Given the description of an element on the screen output the (x, y) to click on. 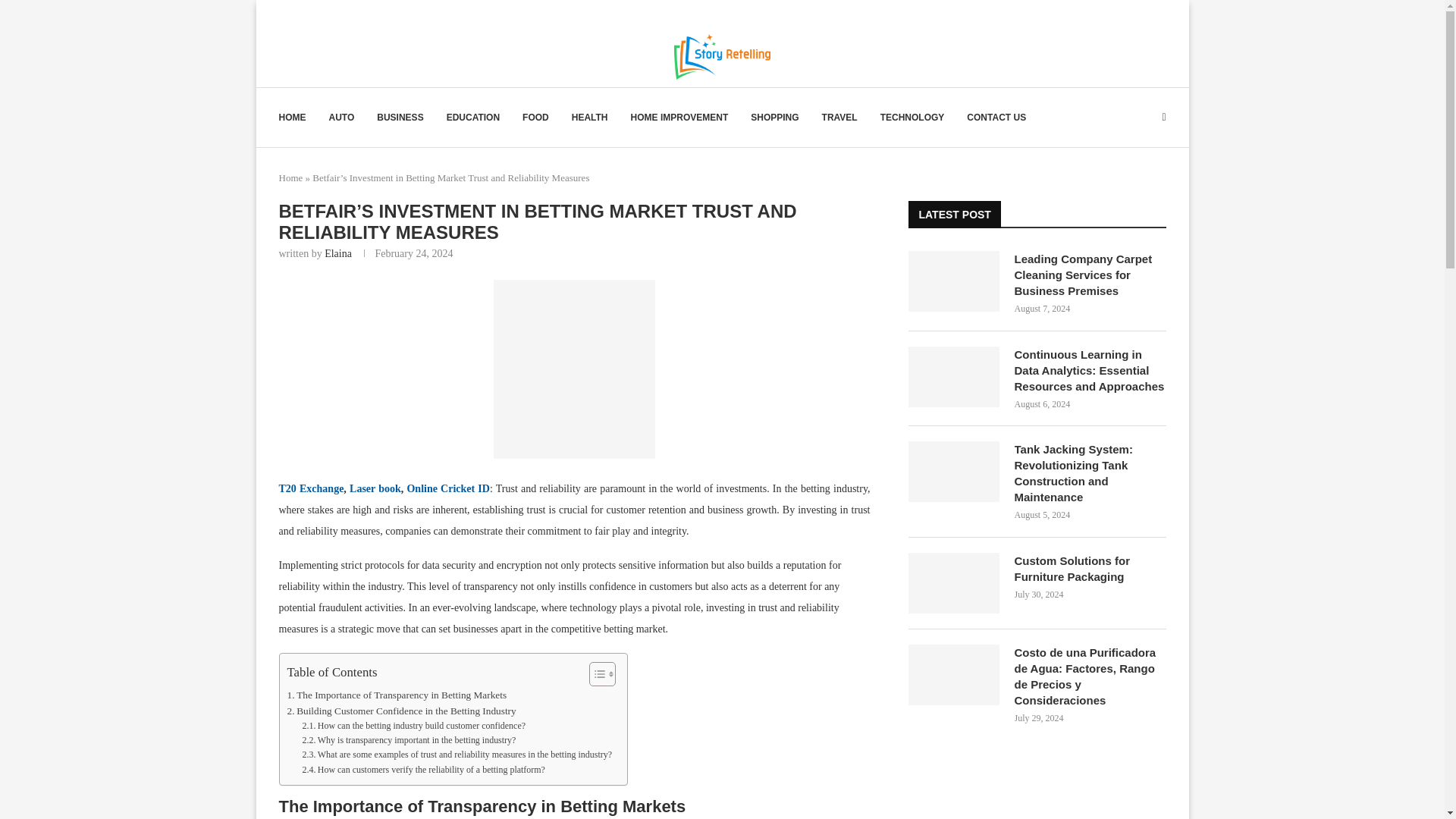
HOME IMPROVEMENT (679, 117)
EDUCATION (472, 117)
Why is transparency important in the betting industry? (408, 740)
The Importance of Transparency in Betting Markets (396, 694)
BUSINESS (400, 117)
Building Customer Confidence in the Betting Industry (400, 710)
SHOPPING (774, 117)
Search (1117, 7)
